Given the description of an element on the screen output the (x, y) to click on. 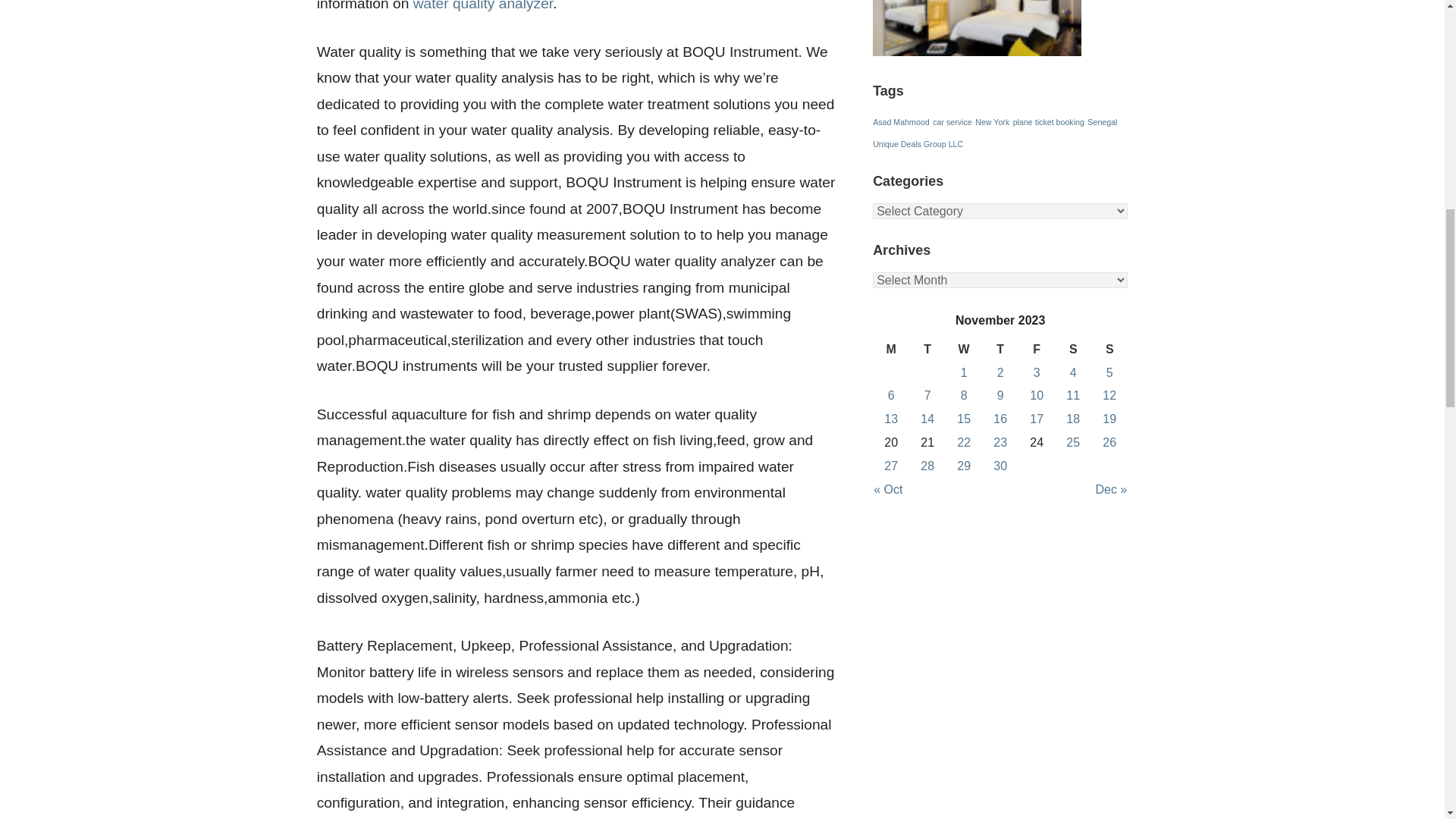
plane ticket booking (1048, 121)
Thursday (999, 349)
Unique Deals Group LLC (917, 143)
car service (952, 121)
Friday (1035, 349)
11 (1072, 395)
Monday (890, 349)
Asad Mahmood (901, 121)
New York (992, 121)
Sunday (1108, 349)
